Given the description of an element on the screen output the (x, y) to click on. 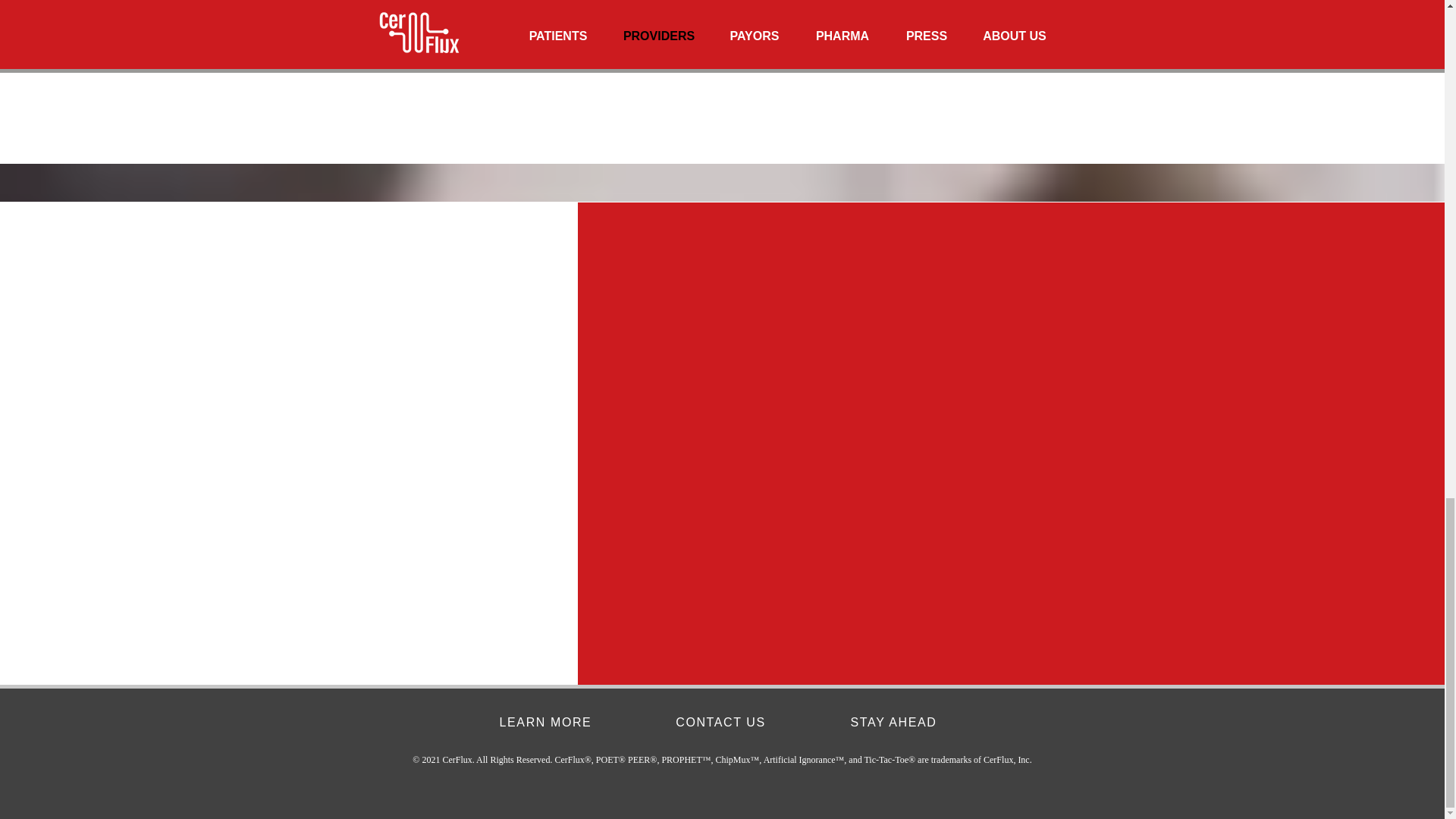
STAY AHEAD (894, 722)
CONTACT US (721, 722)
LEARN MORE (547, 722)
